Given the description of an element on the screen output the (x, y) to click on. 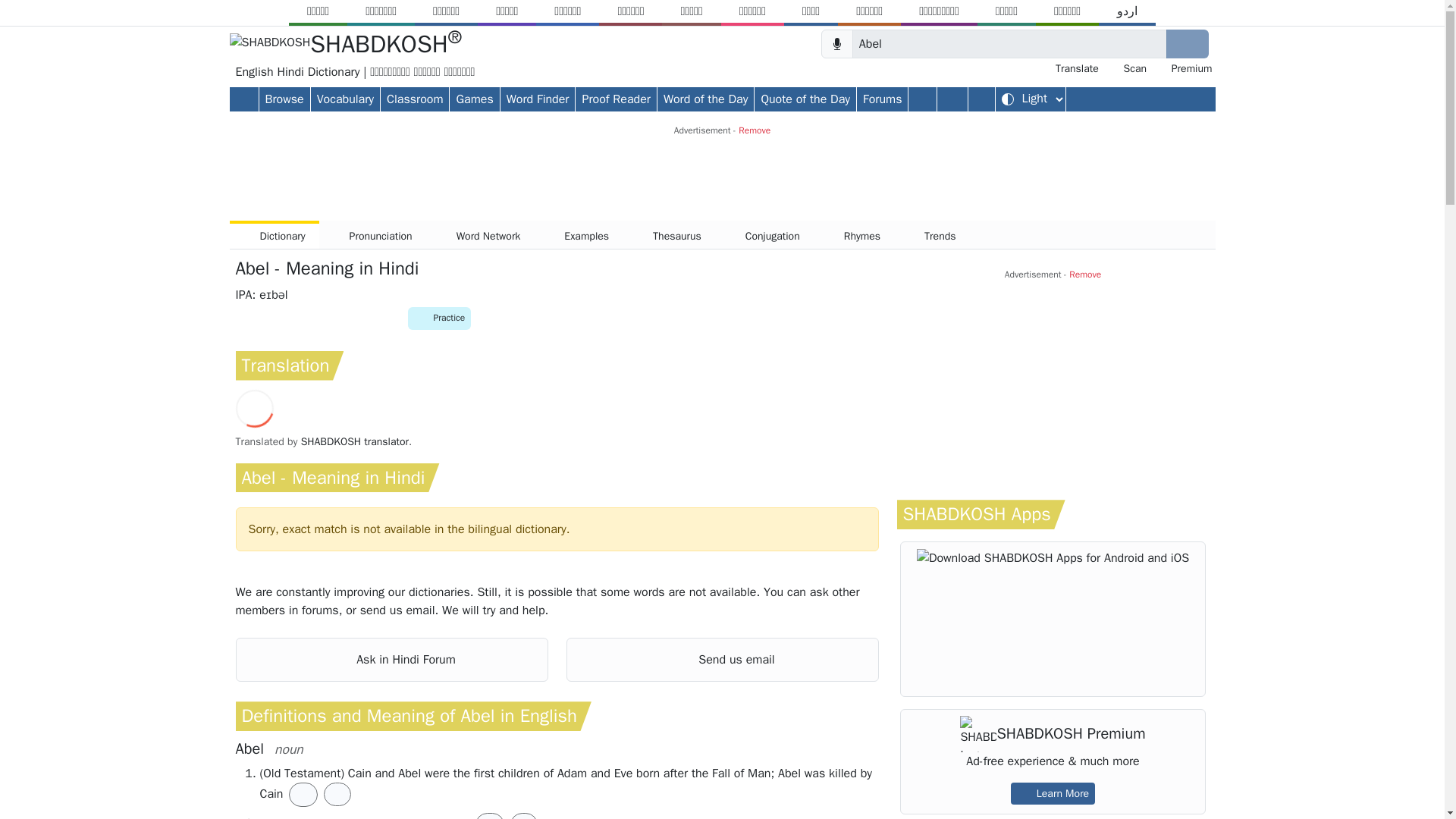
English Odia Dictionary (810, 11)
English Sanskrit Dictionary (938, 11)
English Nepali Dictionary (752, 11)
English Hindi Dictionary (445, 11)
Quote of the Day (805, 97)
Forums (882, 97)
Scan (1127, 68)
English Urdu Dictionary (1126, 11)
Word of the Day (706, 97)
English Telugu Dictionary (1067, 11)
